Given the description of an element on the screen output the (x, y) to click on. 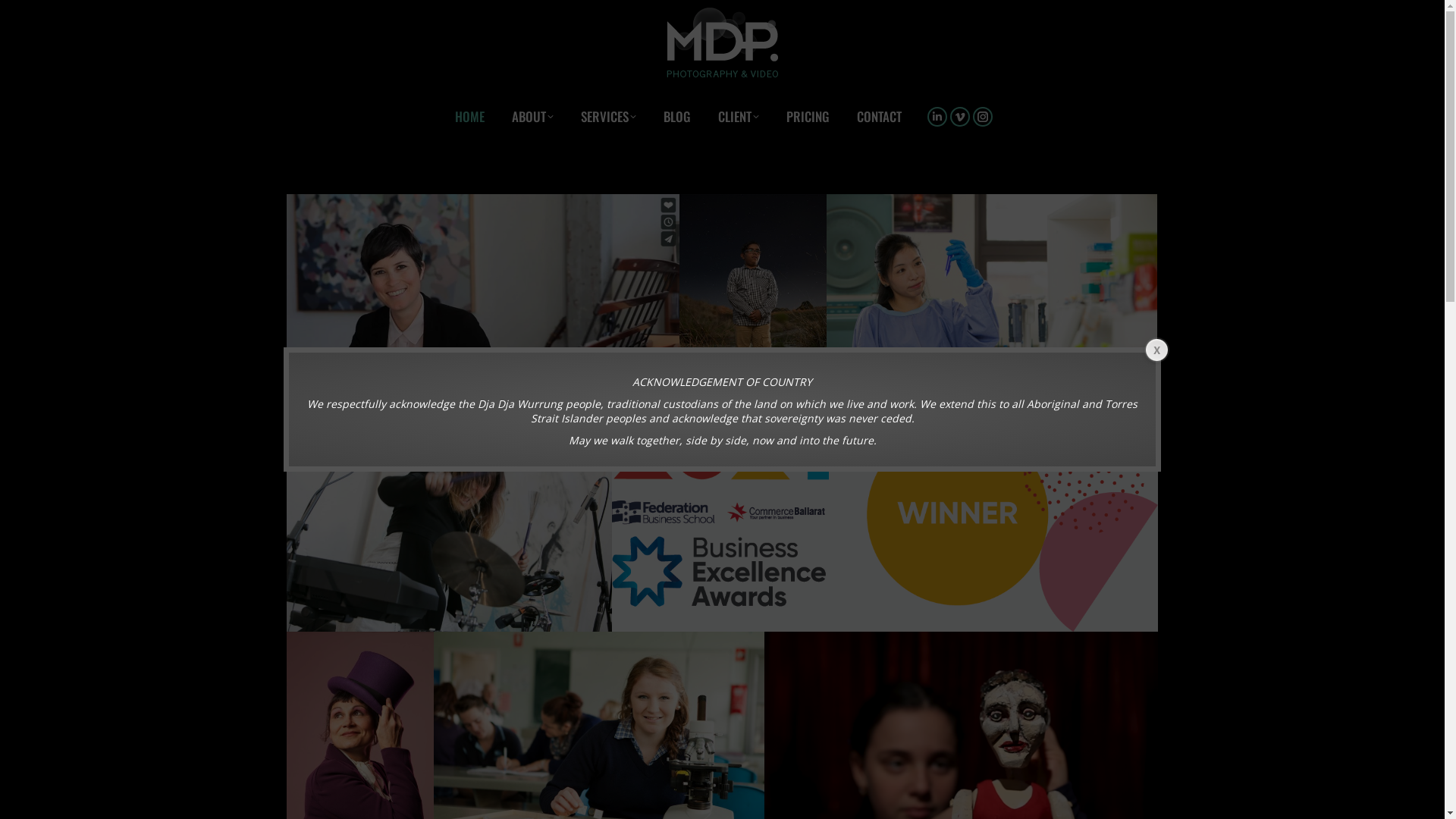
Winner of the 2021 Creative Industries Award Element type: hover (884, 522)
MDP_2015_Chillout-060-0257 Element type: hover (448, 522)
Vimeo page opens in new window Element type: text (959, 115)
ABOUT Element type: text (532, 116)
MDP_FECRI-006-4559 Element type: hover (991, 304)
BLOG Element type: text (676, 116)
PRICING Element type: text (807, 116)
SERVICES Element type: text (608, 116)
Andrew_Exhibition Element type: hover (752, 304)
Linkedin page opens in new window Element type: text (937, 115)
Instagram page opens in new window Element type: text (982, 115)
HOME Element type: text (469, 116)
CONTACT Element type: text (878, 116)
CLIENT Element type: text (738, 116)
